Given the description of an element on the screen output the (x, y) to click on. 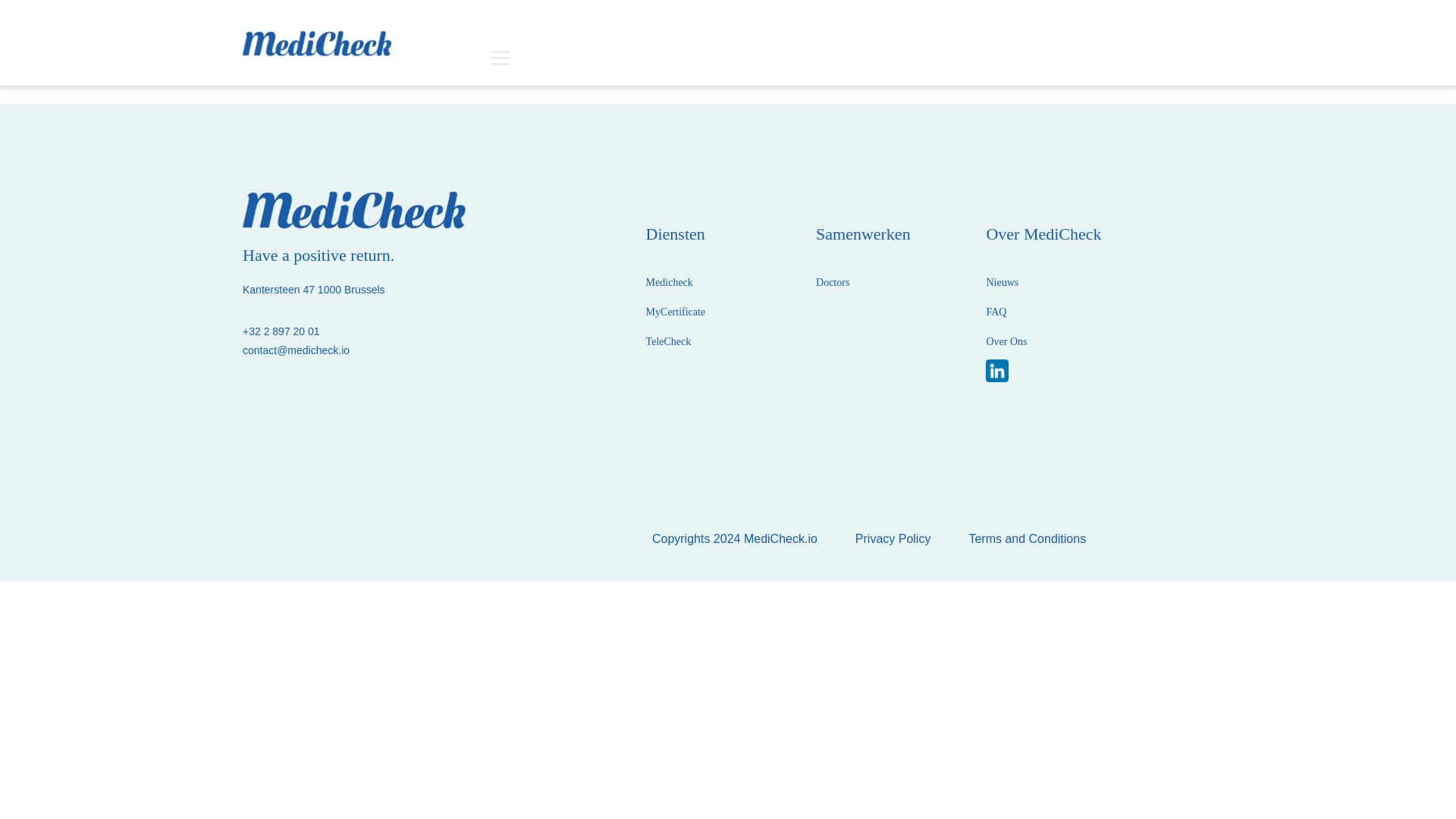
Doctors (831, 282)
main-logo (356, 208)
TeleCheck (668, 341)
banner-logo (318, 42)
MyCertificate (676, 312)
Terms and Conditions (1027, 538)
Nieuws (1001, 282)
Medicheck (669, 282)
Over Ons (1005, 342)
FAQ (995, 312)
